Given the description of an element on the screen output the (x, y) to click on. 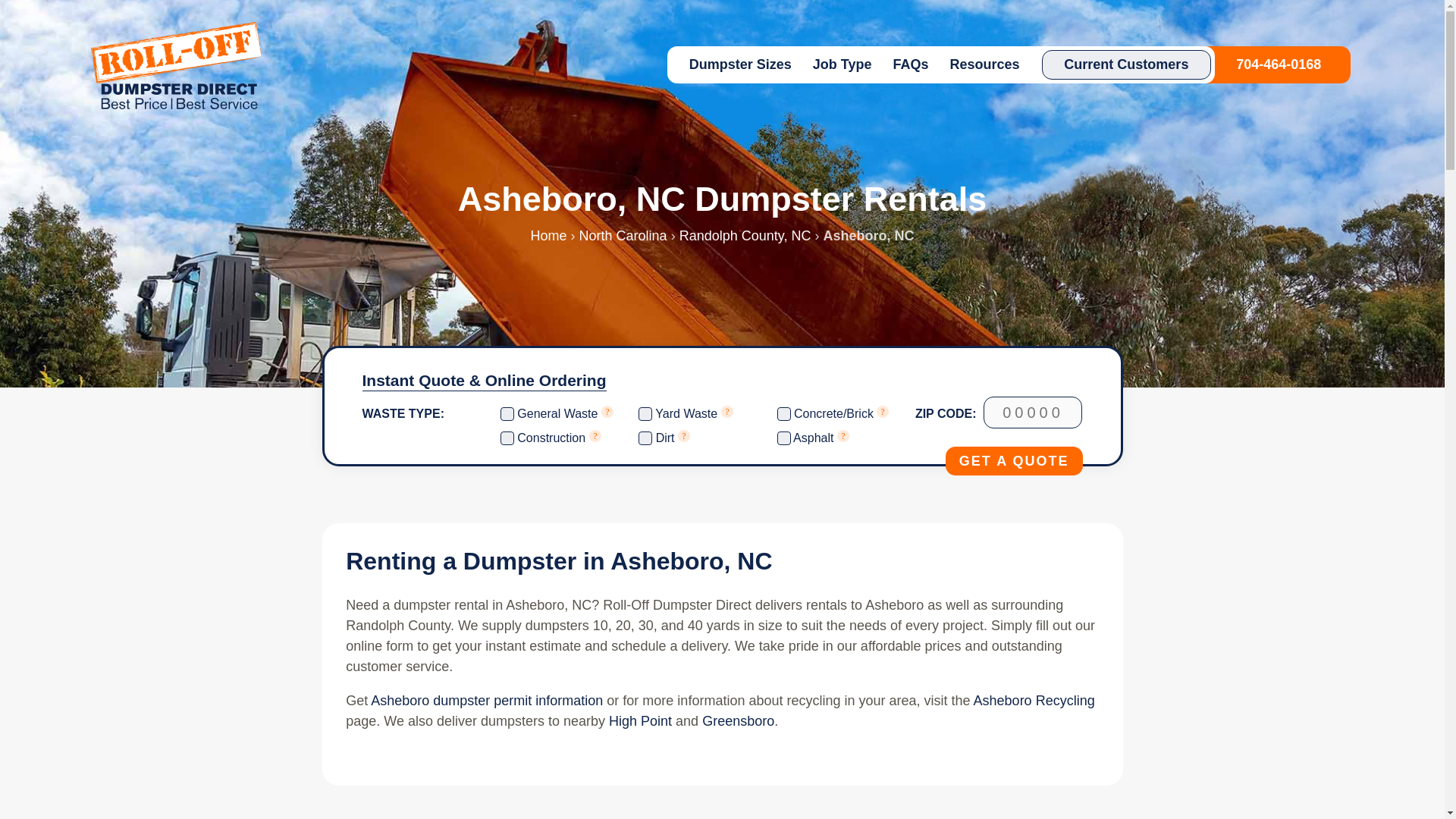
Job Type (842, 64)
704-464-0168 (1279, 64)
Dumpster Sizes (740, 64)
? (684, 435)
? (595, 437)
Home (549, 235)
? (606, 411)
Concrete (783, 413)
Asheboro Recycling (1034, 700)
? (595, 435)
Get a Quote (1013, 460)
Current Customers (1126, 64)
? (882, 411)
Construction (506, 438)
Yard (645, 413)
